Given the description of an element on the screen output the (x, y) to click on. 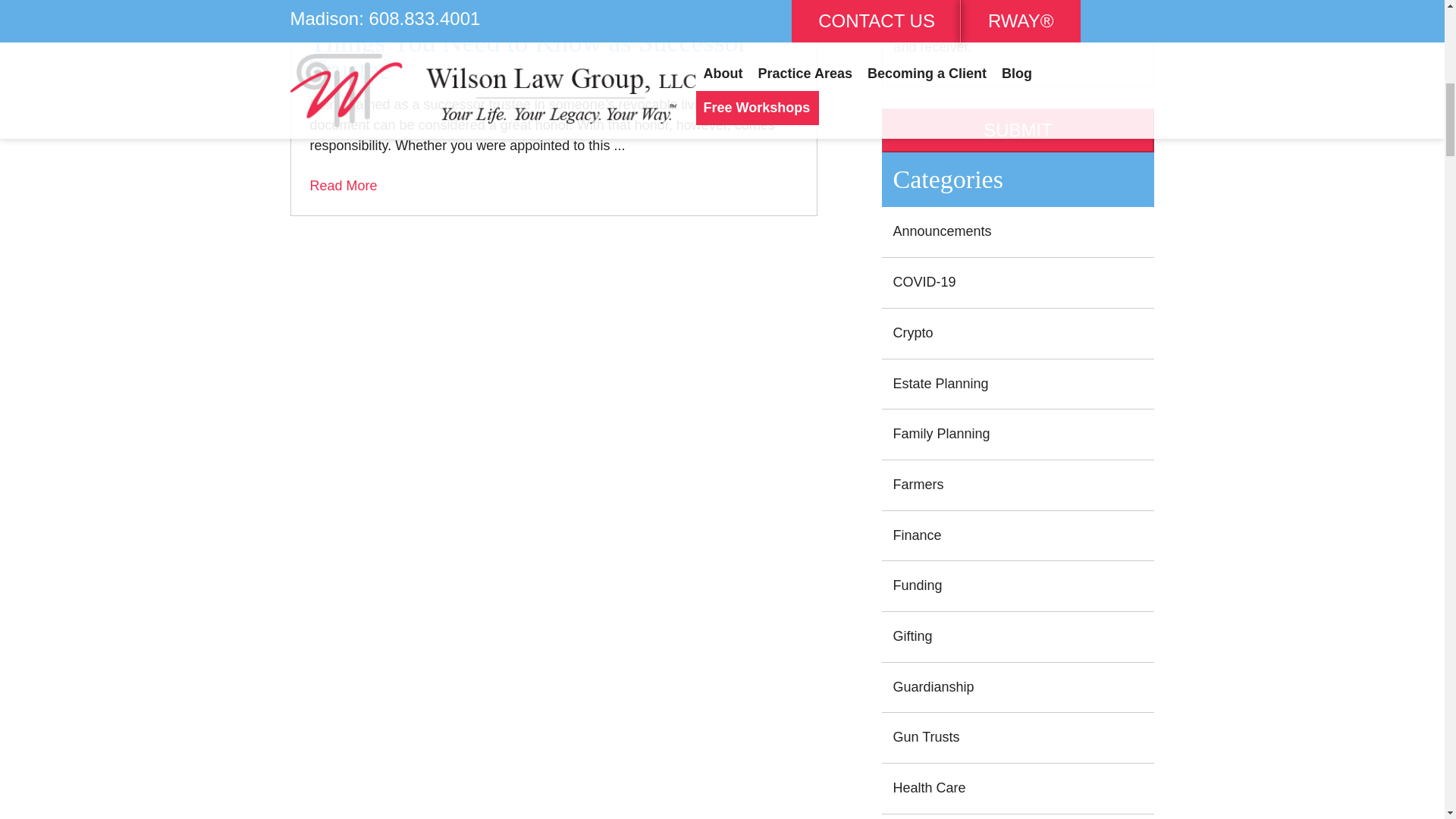
Announcements (1017, 232)
Submit (1017, 130)
COVID-19 (1017, 282)
Things You Need to Know as Successor Trustee (552, 55)
Read More (342, 185)
Submit (1017, 130)
